Given the description of an element on the screen output the (x, y) to click on. 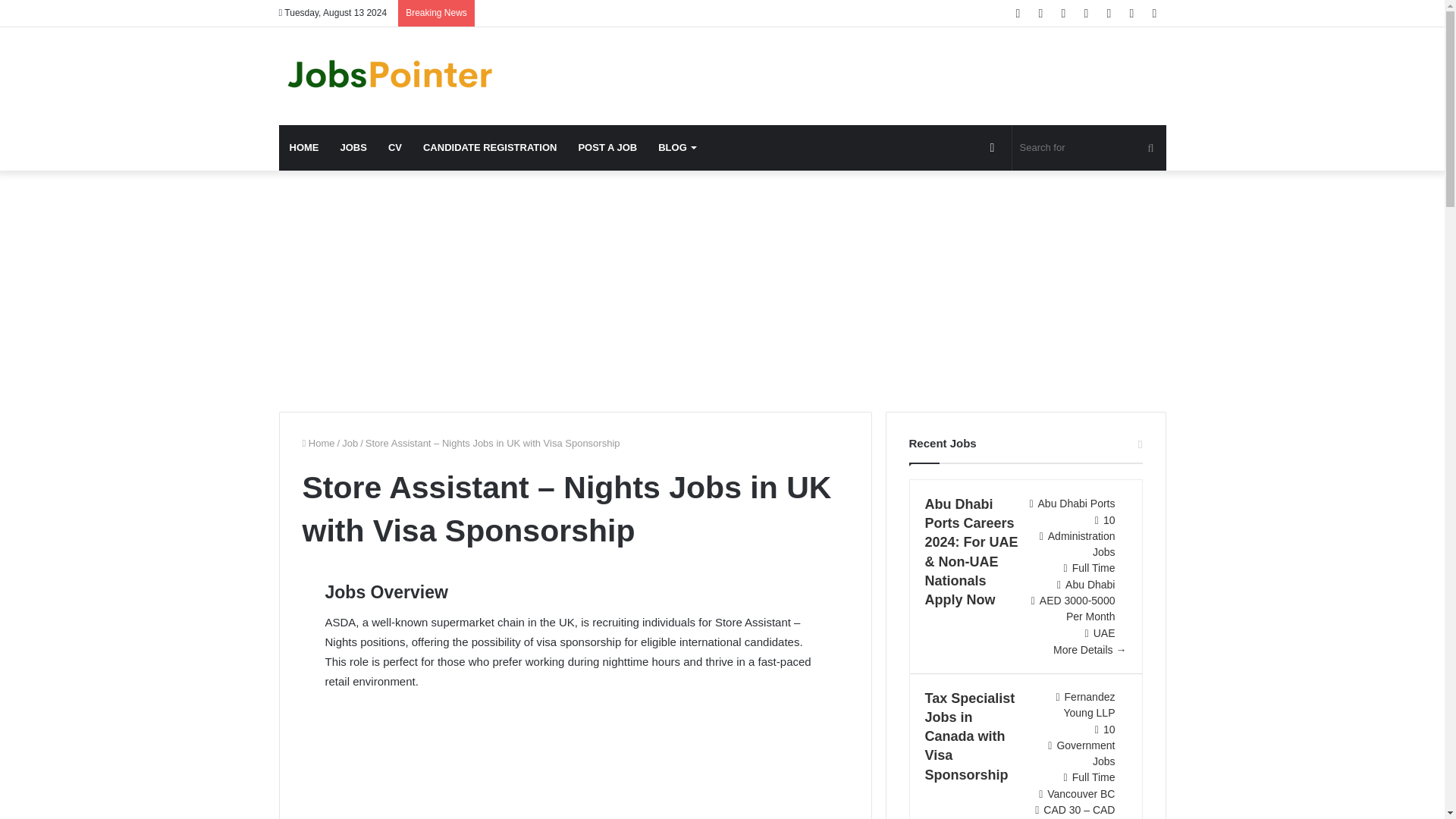
BLOG (676, 147)
POST A JOB (607, 147)
HOME (304, 147)
JOBS (353, 147)
Advertisement (574, 764)
CANDIDATE REGISTRATION (489, 147)
Home (317, 442)
Search for (1088, 147)
Wel Come to Jobspointer (392, 76)
